Given the description of an element on the screen output the (x, y) to click on. 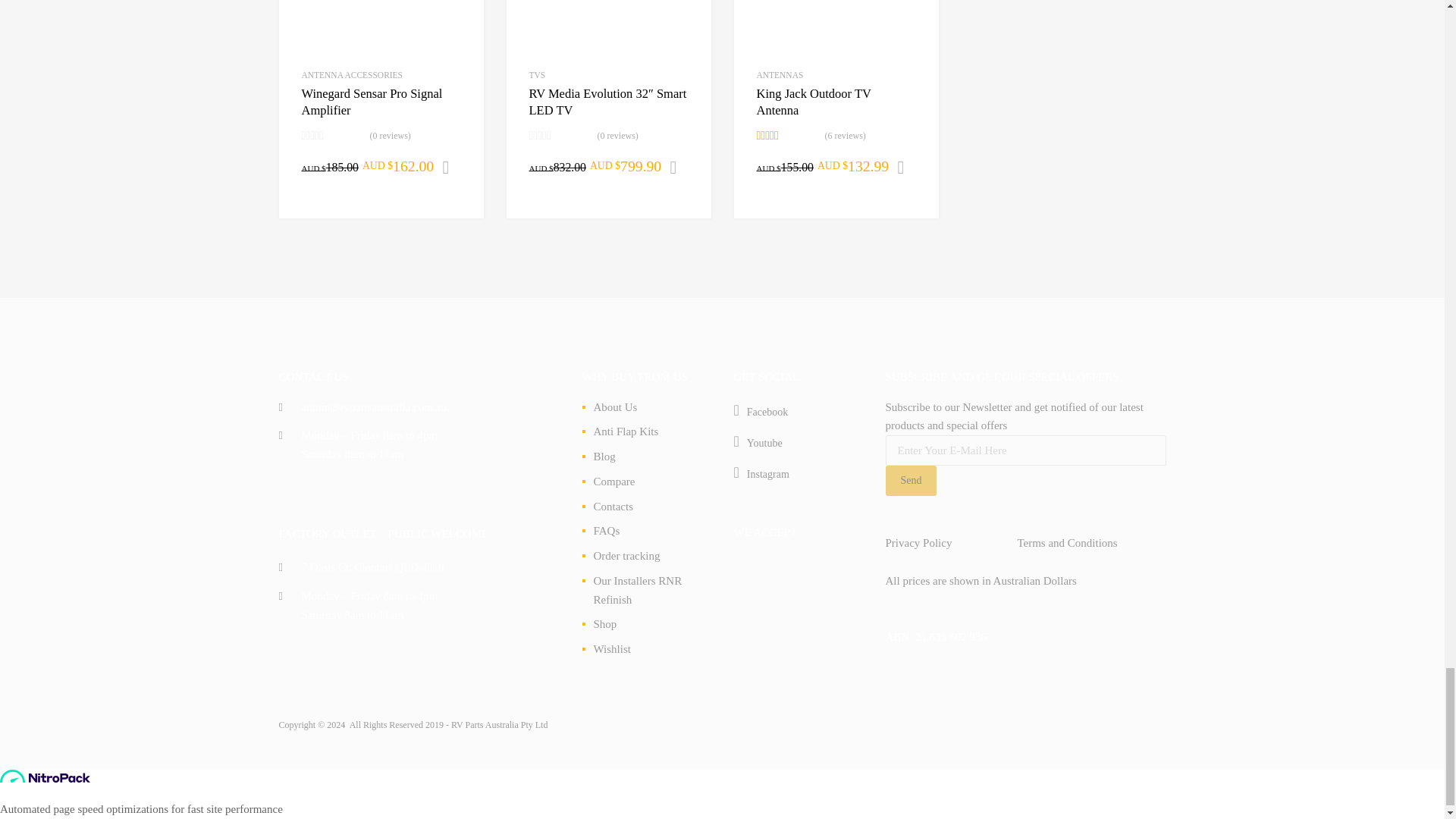
Connect us (758, 441)
Connect us (761, 472)
Connect us (761, 410)
Send (911, 481)
Email us (373, 407)
